Given the description of an element on the screen output the (x, y) to click on. 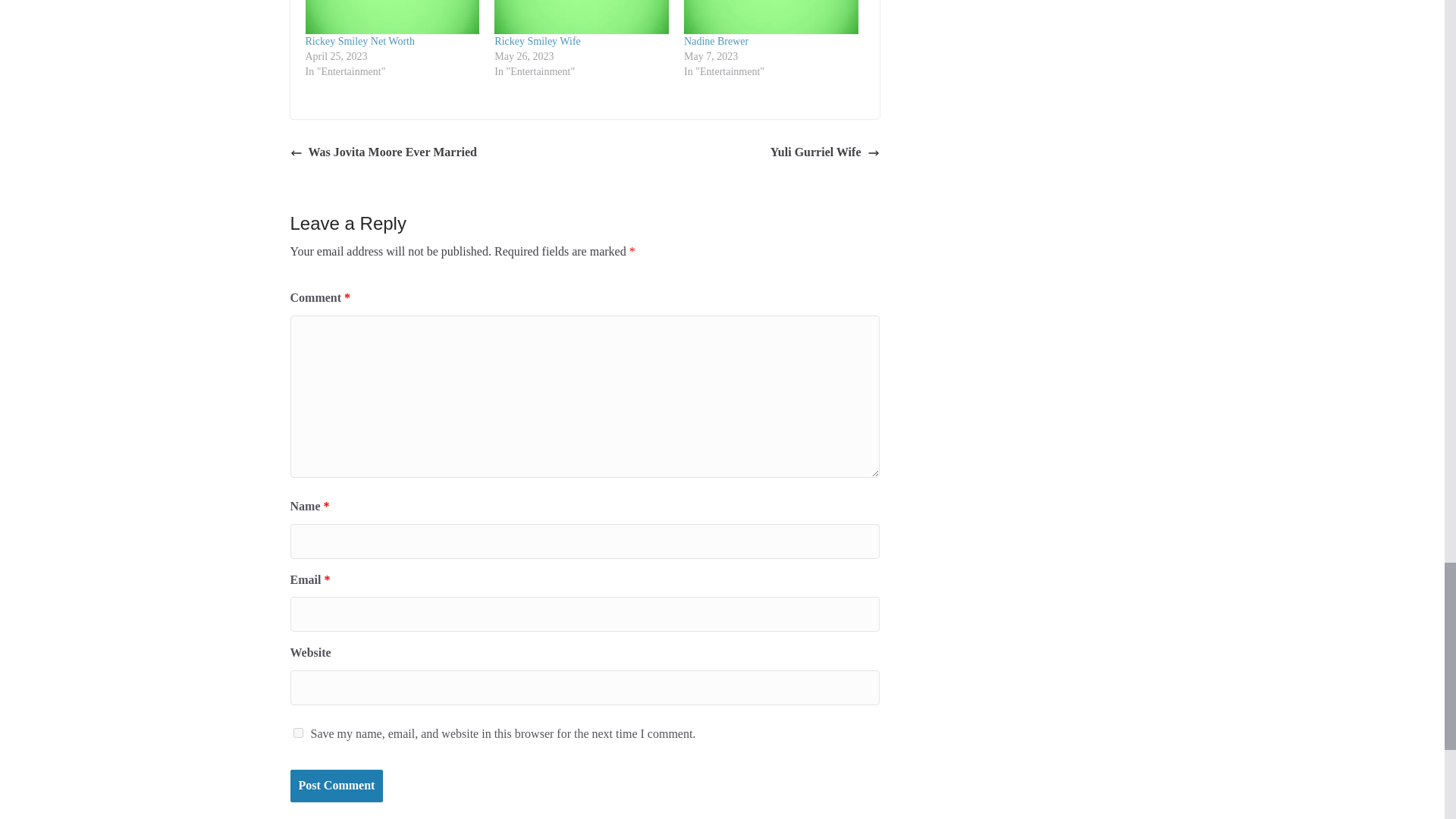
Rickey Smiley Net Worth (358, 41)
Rickey Smiley Wife (537, 41)
yes (297, 732)
Was Jovita Moore Ever Married (382, 152)
Post Comment (335, 785)
Yuli Gurriel Wife (824, 152)
Nadine Brewer (716, 41)
